Given the description of an element on the screen output the (x, y) to click on. 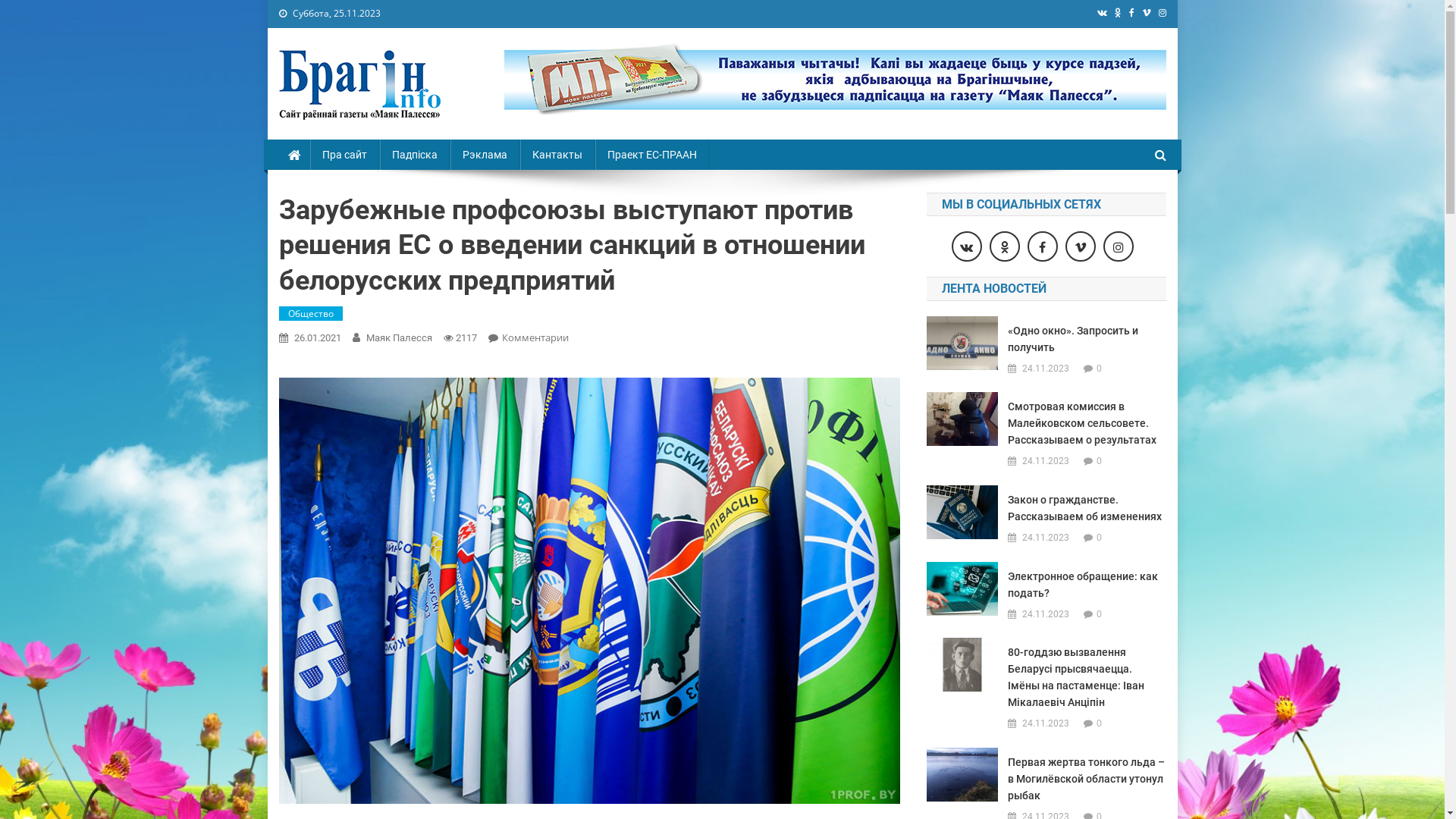
24.11.2023 Element type: text (1045, 723)
26.01.2021 Element type: text (317, 337)
0 Element type: text (1098, 613)
24.11.2023 Element type: text (1045, 368)
0 Element type: text (1098, 460)
0 Element type: text (1098, 537)
24.11.2023 Element type: text (1045, 461)
0 Element type: text (1098, 367)
24.11.2023 Element type: text (1045, 537)
0 Element type: text (1098, 722)
24.11.2023 Element type: text (1045, 614)
